Given the description of an element on the screen output the (x, y) to click on. 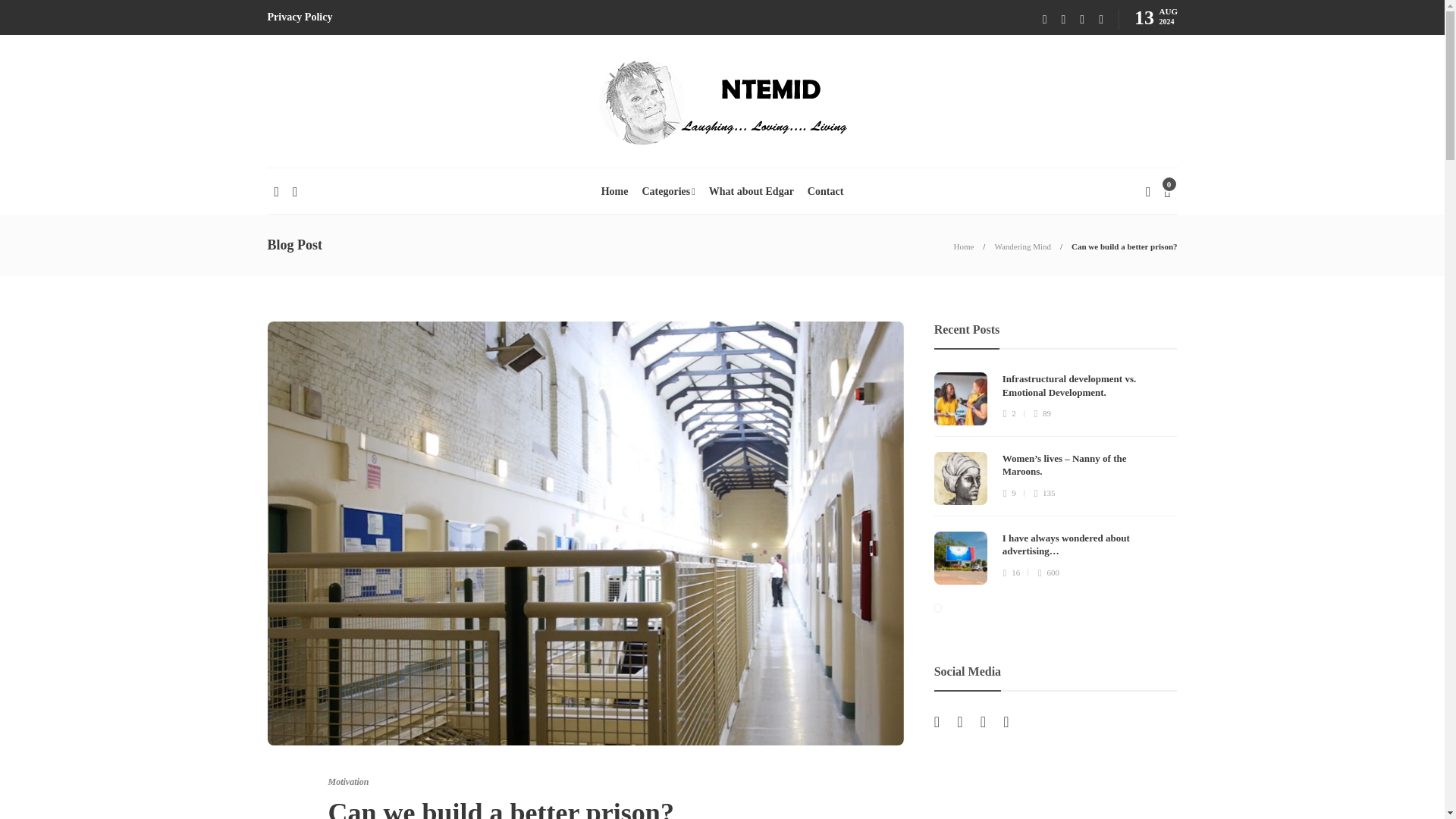
Can we build a better prison? (1123, 245)
Privacy Policy (298, 17)
Home (963, 245)
